Given the description of an element on the screen output the (x, y) to click on. 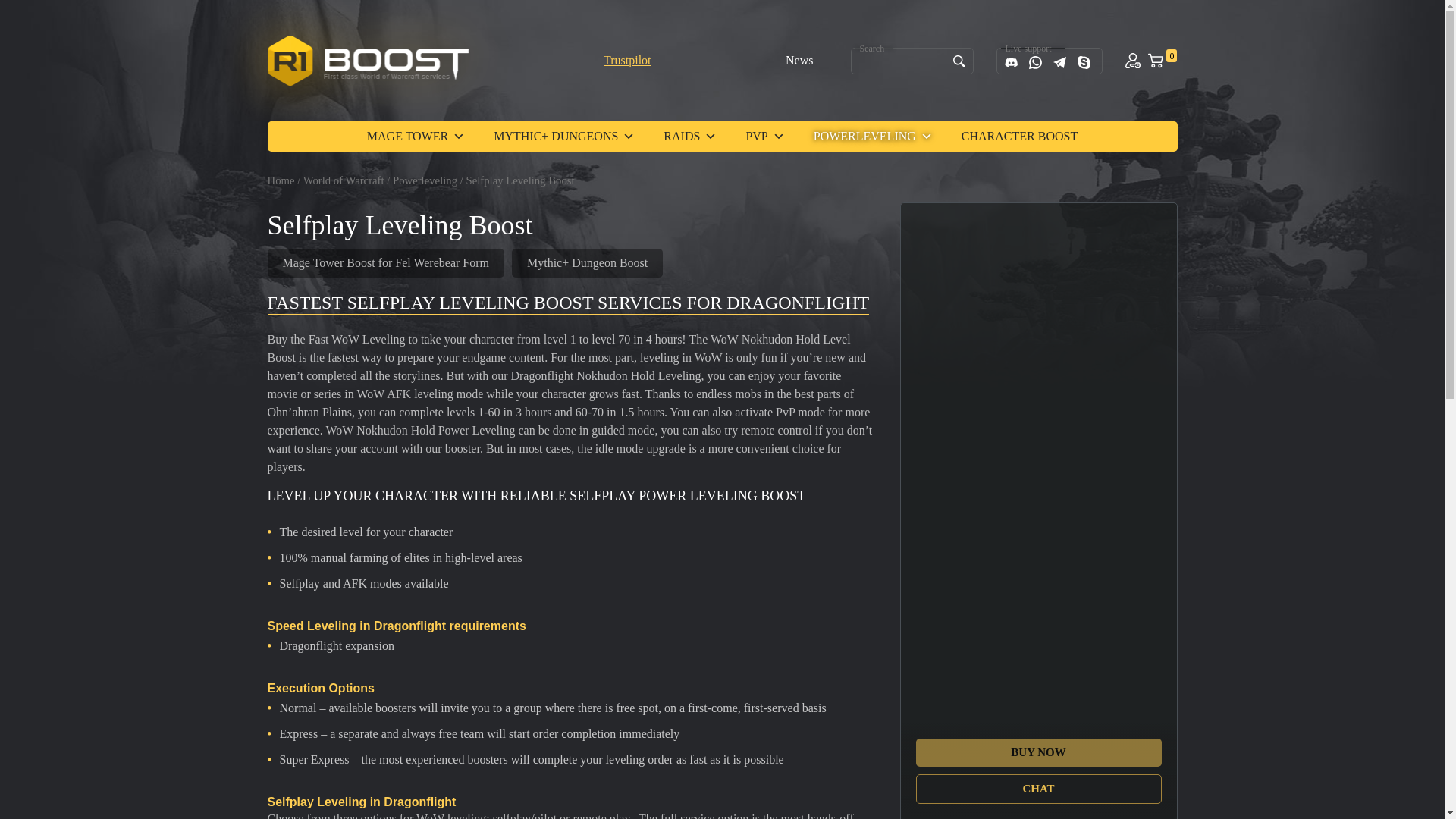
Powerleveling (425, 180)
News (799, 60)
CHARACTER BOOST (1019, 136)
Login (1132, 60)
Home (280, 180)
discord (1010, 62)
Trustpilot (627, 60)
Login (1132, 60)
MAGE TOWER (415, 136)
whatsapp (1035, 62)
